Given the description of an element on the screen output the (x, y) to click on. 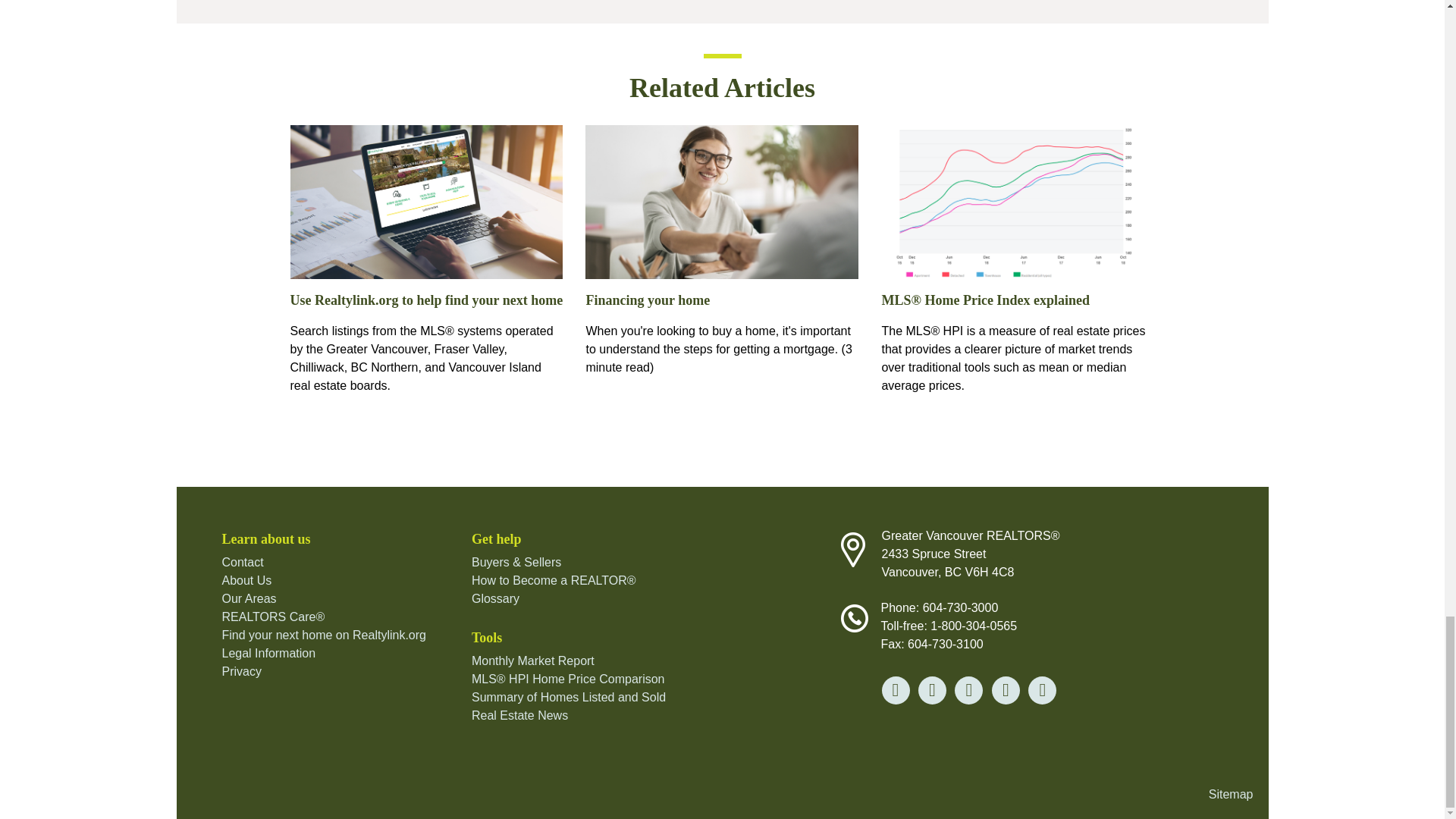
About Us (245, 580)
Summary of Homes Listed and Sold (568, 697)
Legal Information (268, 653)
Contact (242, 562)
Privacy (240, 671)
Our Areas (248, 598)
Glossary (495, 598)
Find your next home on Realtylink.org (323, 634)
Monthly Market Report (532, 660)
Real Estate News (519, 715)
